Given the description of an element on the screen output the (x, y) to click on. 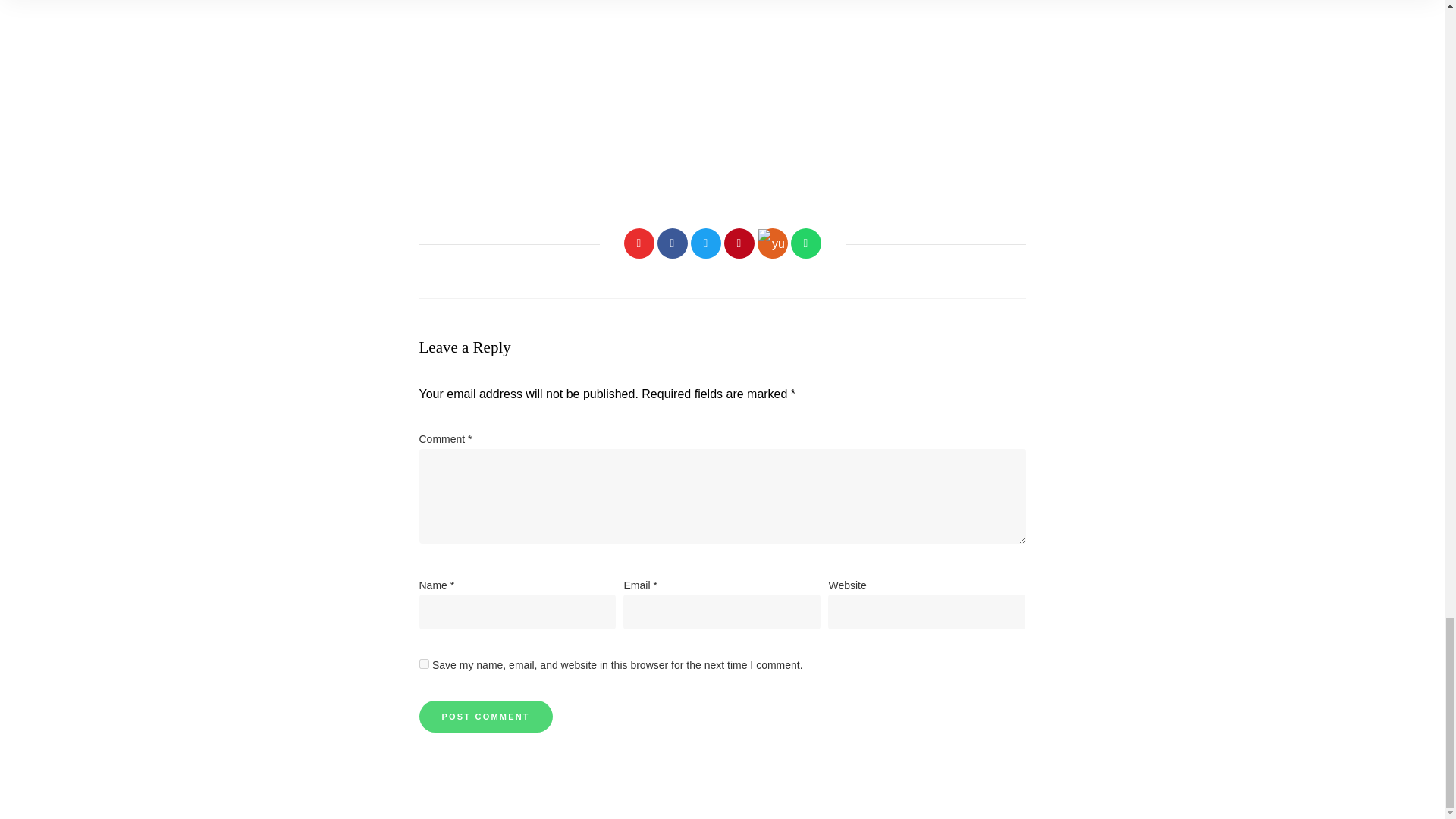
WhatsApp (805, 243)
Facebook (671, 243)
Pinterest (738, 243)
Yummly (772, 243)
Post Comment (485, 716)
Twitter (705, 243)
Like (638, 243)
yes (423, 664)
